Given the description of an element on the screen output the (x, y) to click on. 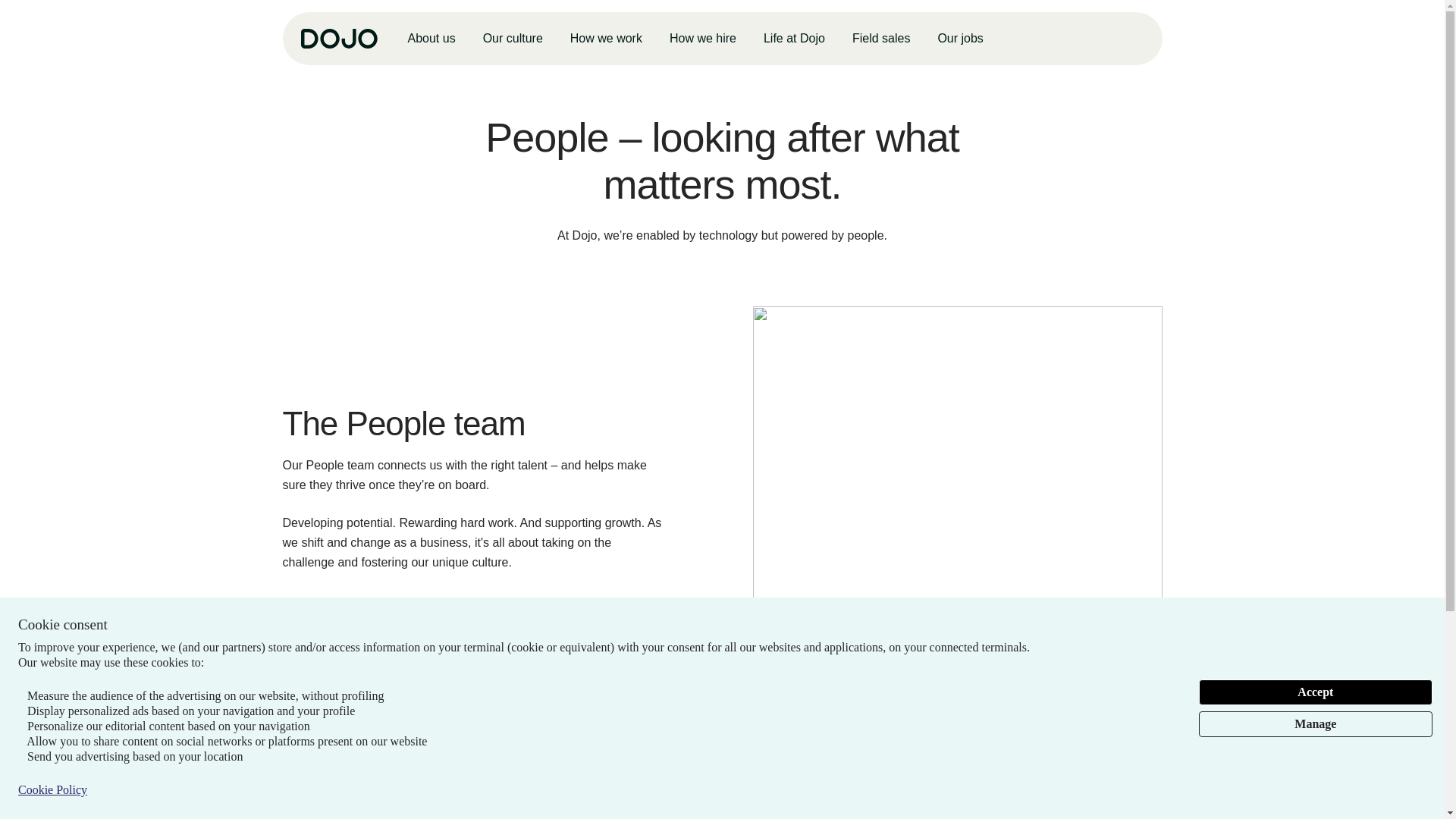
Accept (1315, 692)
How we hire (702, 38)
Our culture (512, 38)
Manage (1315, 724)
Life at Dojo (794, 38)
Our jobs (959, 38)
How we work (605, 38)
About us (431, 38)
Field sales (880, 38)
Cookie Policy (52, 789)
